Given the description of an element on the screen output the (x, y) to click on. 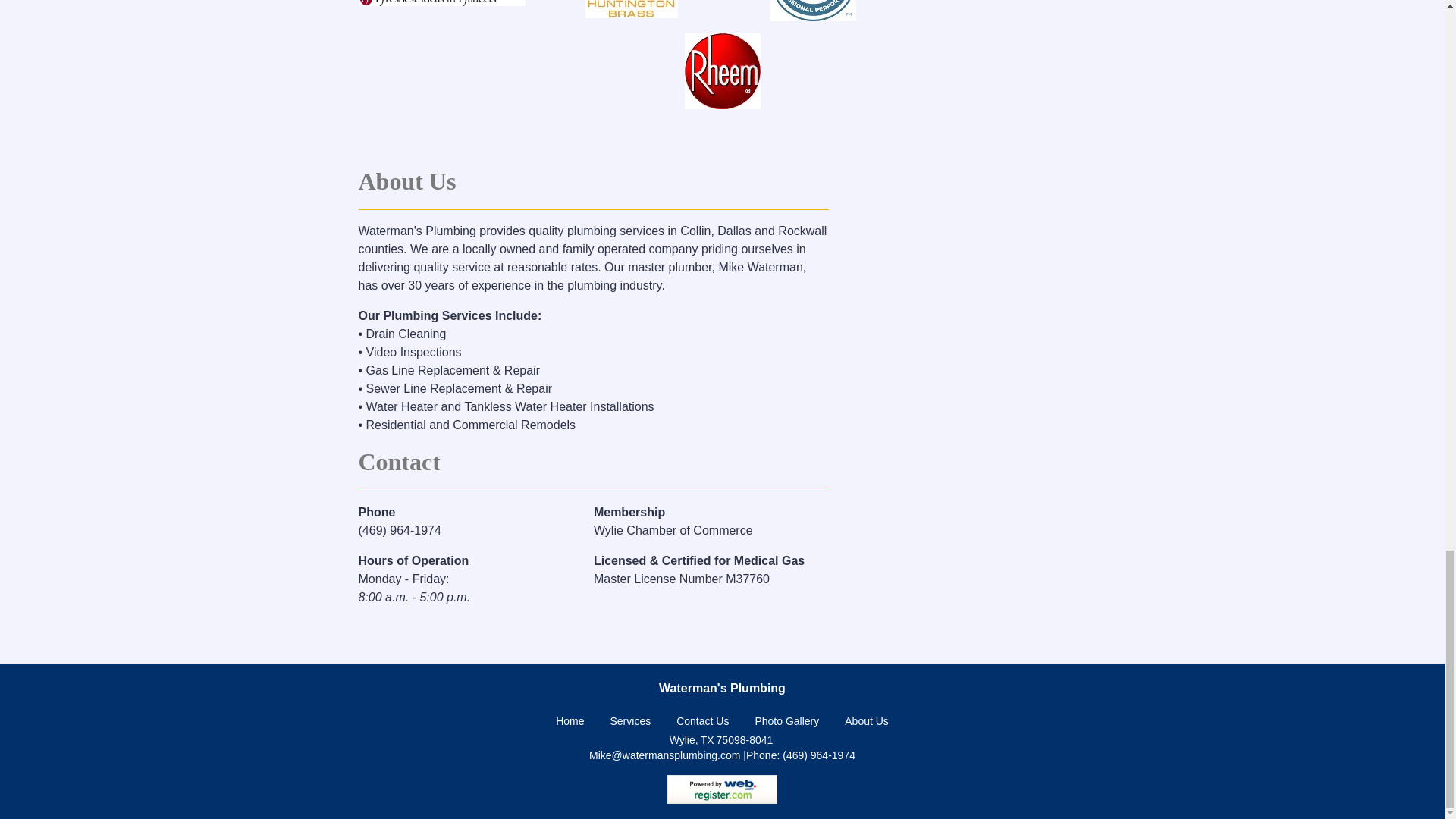
Gerber Logo (813, 10)
Home (569, 721)
Services (630, 721)
Contact Us (703, 721)
Price Pfister Logo (441, 2)
About Us (866, 721)
Rheem Logo (722, 70)
Photo Gallery (786, 721)
Huntington Brass Logo (631, 9)
